Given the description of an element on the screen output the (x, y) to click on. 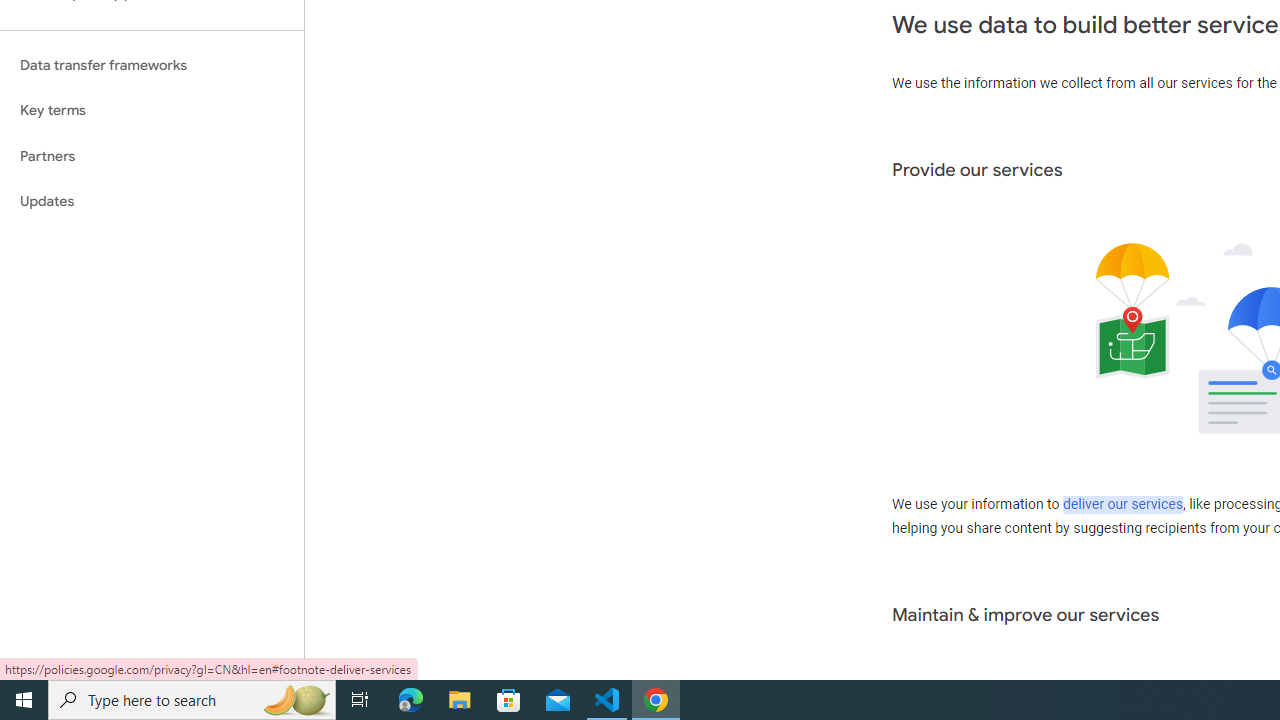
deliver our services (1122, 505)
